Given the description of an element on the screen output the (x, y) to click on. 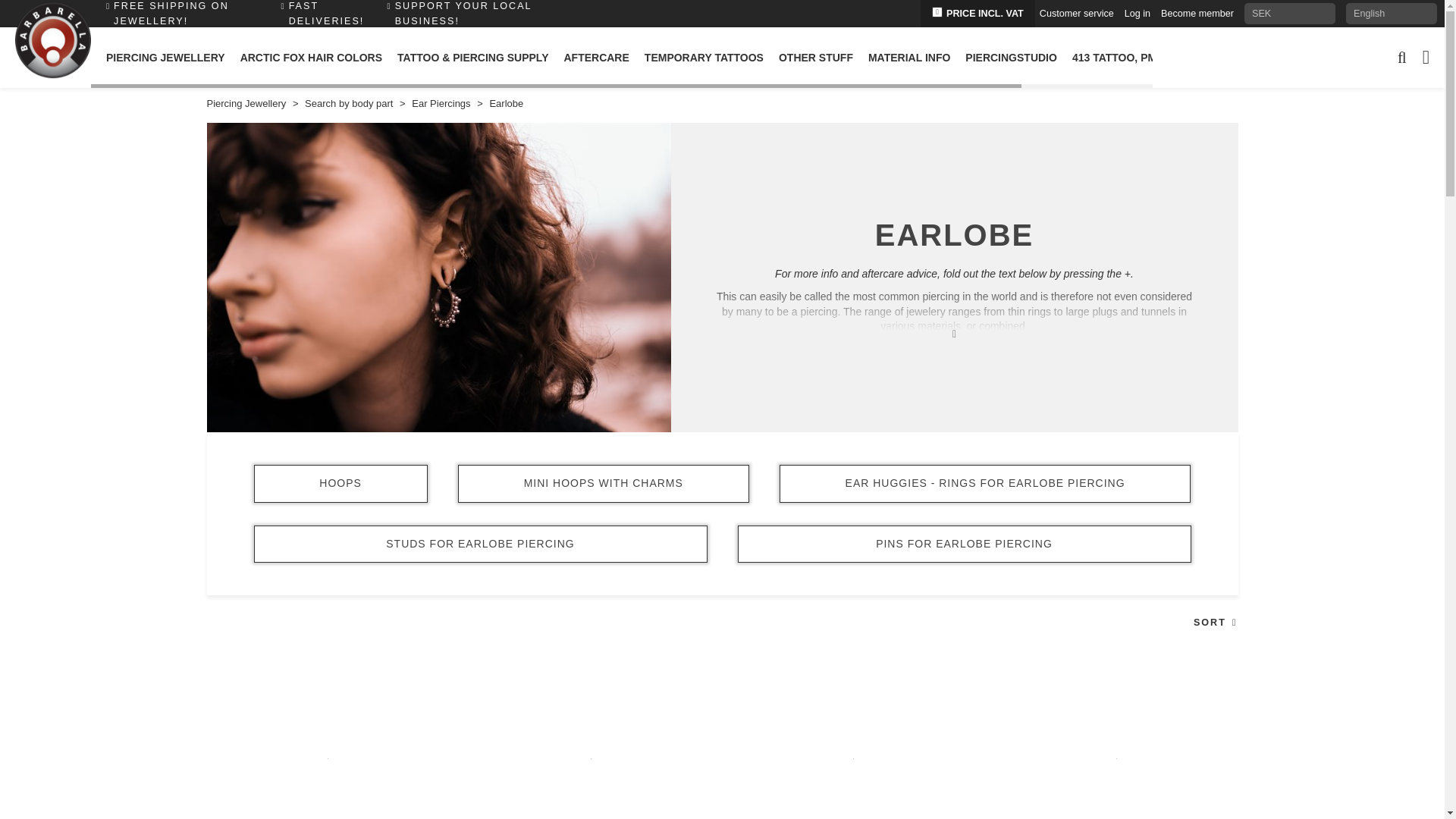
Ear Piercings (441, 102)
Customer service (1399, 13)
Barbarella.se (52, 40)
Earlobe (505, 102)
Search by body part (348, 102)
Piercing Jewellery (245, 102)
